Given the description of an element on the screen output the (x, y) to click on. 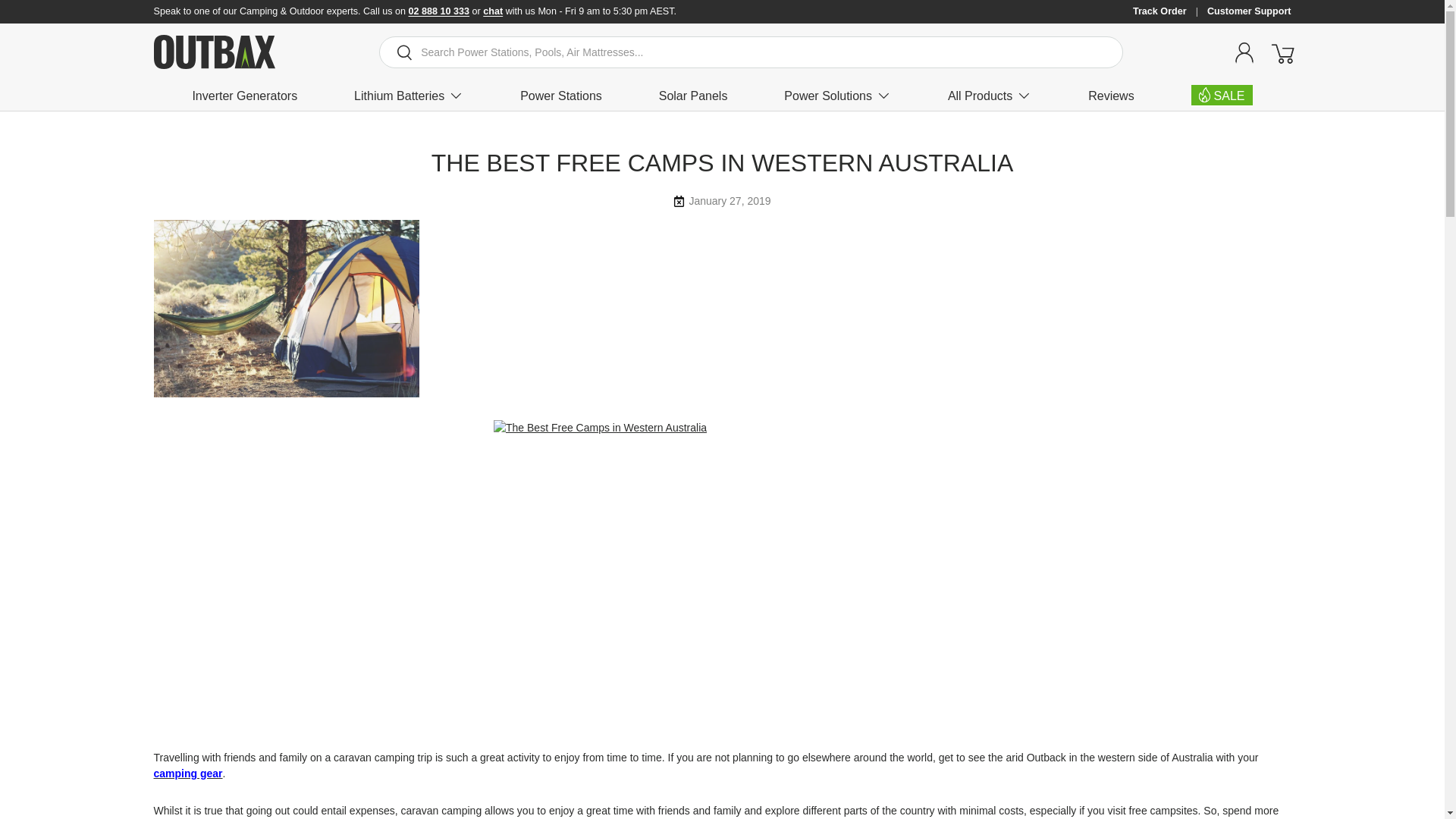
Skip to content (69, 21)
tel:0288810333 (439, 10)
Customer Support (1249, 11)
chat (492, 10)
Inverter Generators (244, 96)
Solar Panels (693, 96)
Search (395, 53)
Cart (1281, 52)
All Products (988, 95)
Log in (1243, 52)
Lithium Batteries (408, 95)
Power Stations (560, 96)
Track Order (1169, 11)
02 888 10 333 (439, 10)
chat (492, 10)
